Given the description of an element on the screen output the (x, y) to click on. 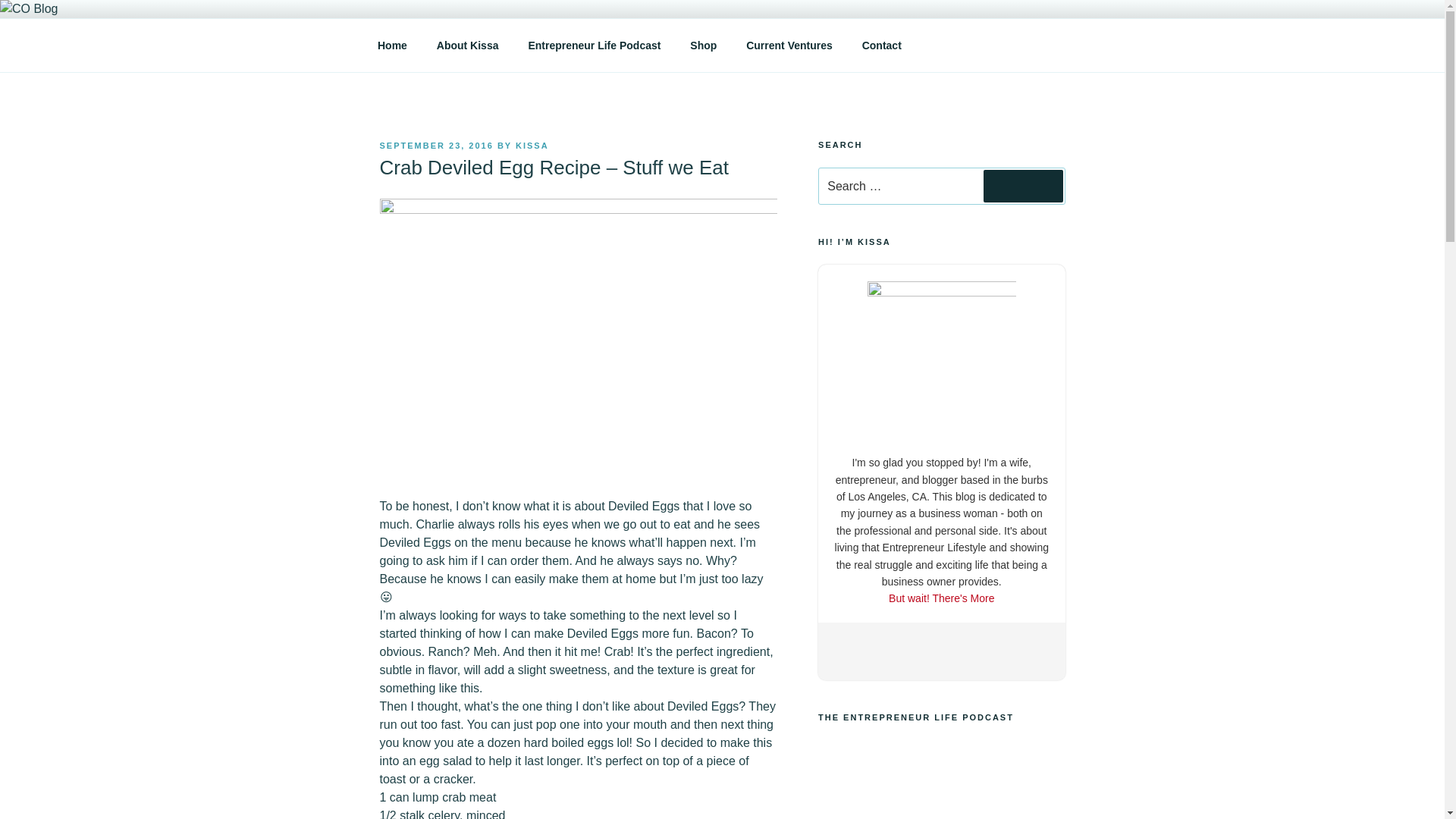
KISSA (531, 144)
Contact (881, 45)
YouTube (955, 648)
But wait! There's More (940, 597)
Entrepreneur Life Podcast (594, 45)
LinkedIn (924, 648)
SEPTEMBER 23, 2016 (435, 144)
About Kissa (467, 45)
Search (1023, 185)
Twitter (895, 648)
